Given the description of an element on the screen output the (x, y) to click on. 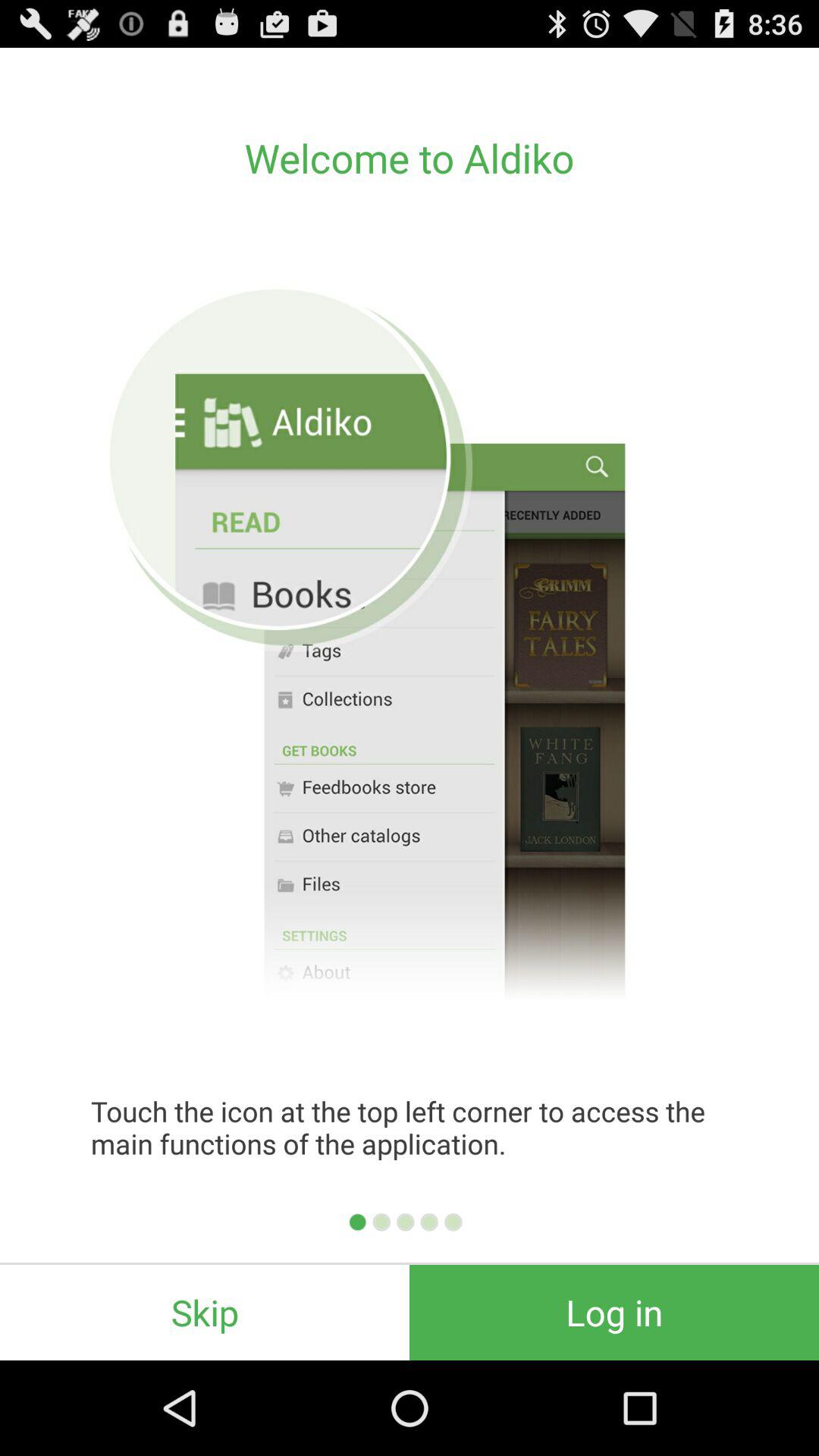
flip until log in item (614, 1312)
